Given the description of an element on the screen output the (x, y) to click on. 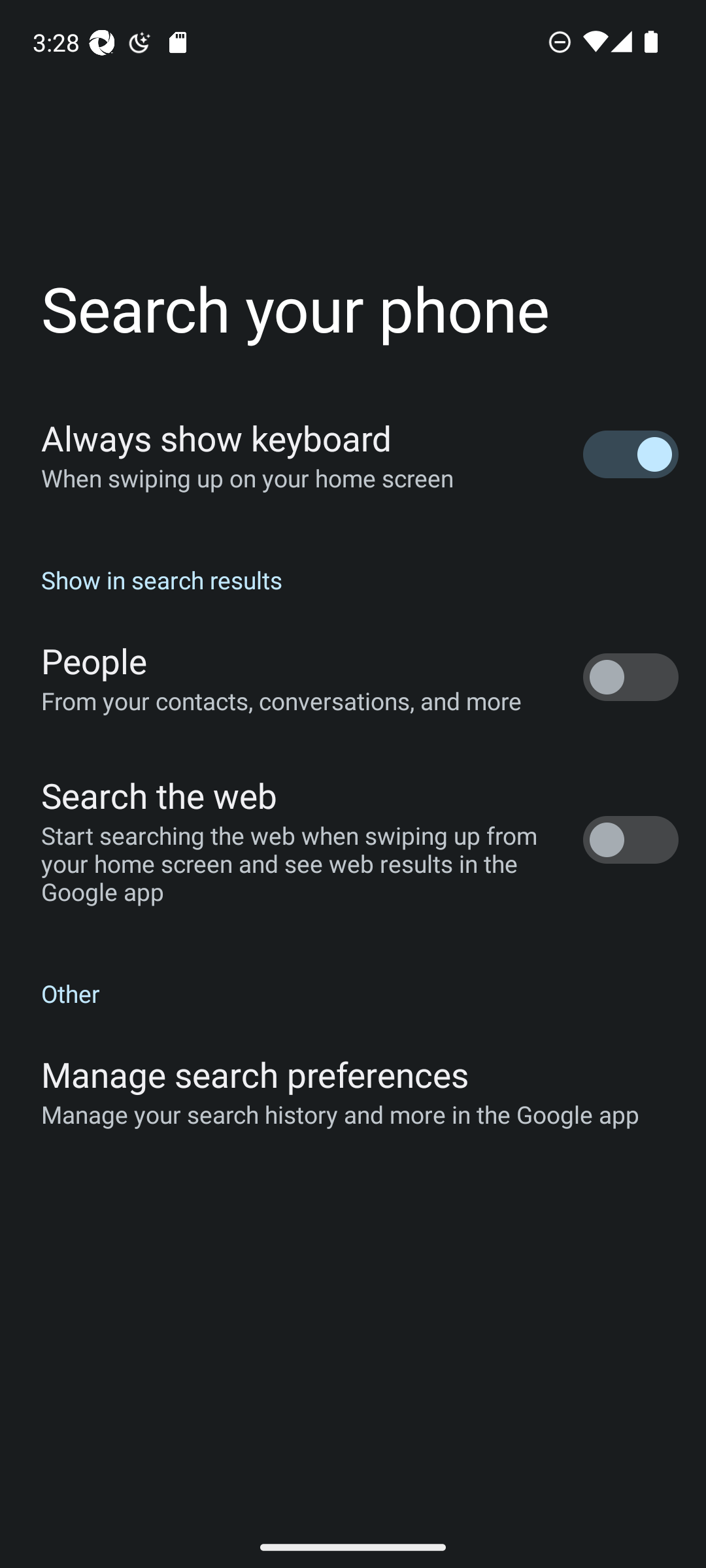
People From your contacts, conversations, and more (353, 676)
